Given the description of an element on the screen output the (x, y) to click on. 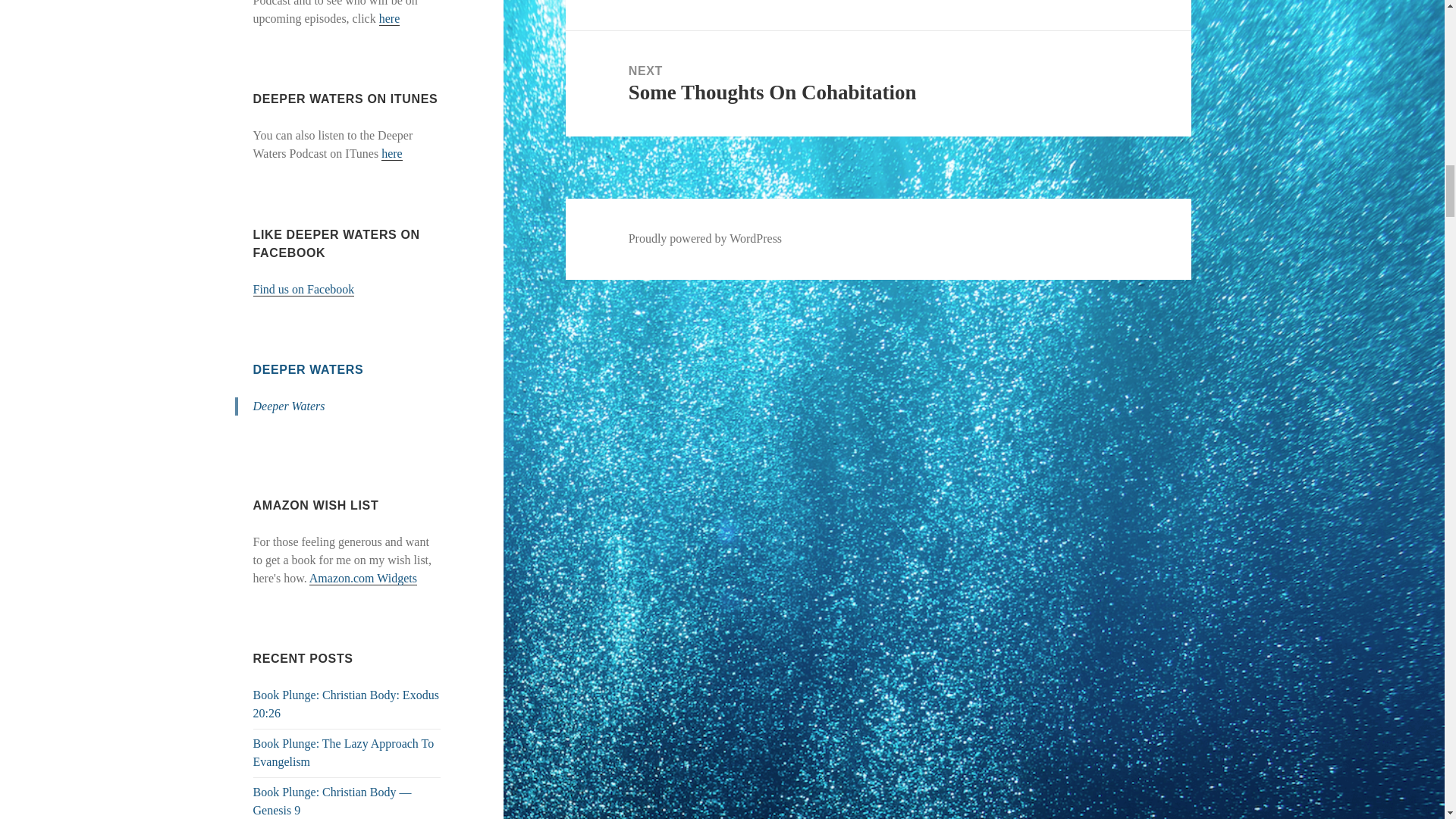
Deeper Waters (288, 405)
DEEPER WATERS (308, 369)
here (392, 153)
Amazon.com Widgets (362, 578)
here (389, 18)
Book Plunge: The Lazy Approach To Evangelism (343, 752)
Find us on Facebook (304, 289)
Book Plunge: Christian Body: Exodus 20:26 (346, 703)
